Given the description of an element on the screen output the (x, y) to click on. 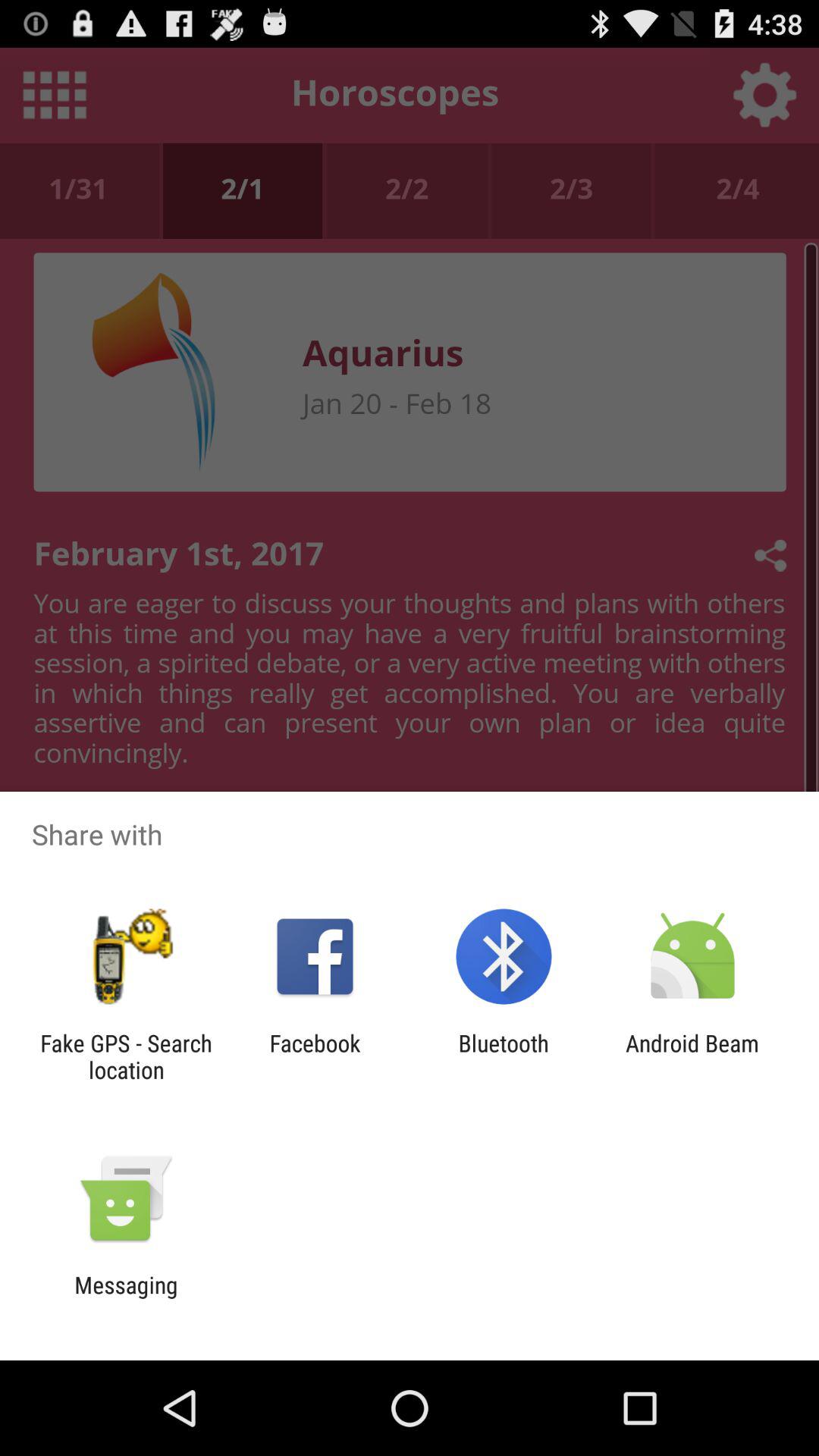
tap the bluetooth app (503, 1056)
